Given the description of an element on the screen output the (x, y) to click on. 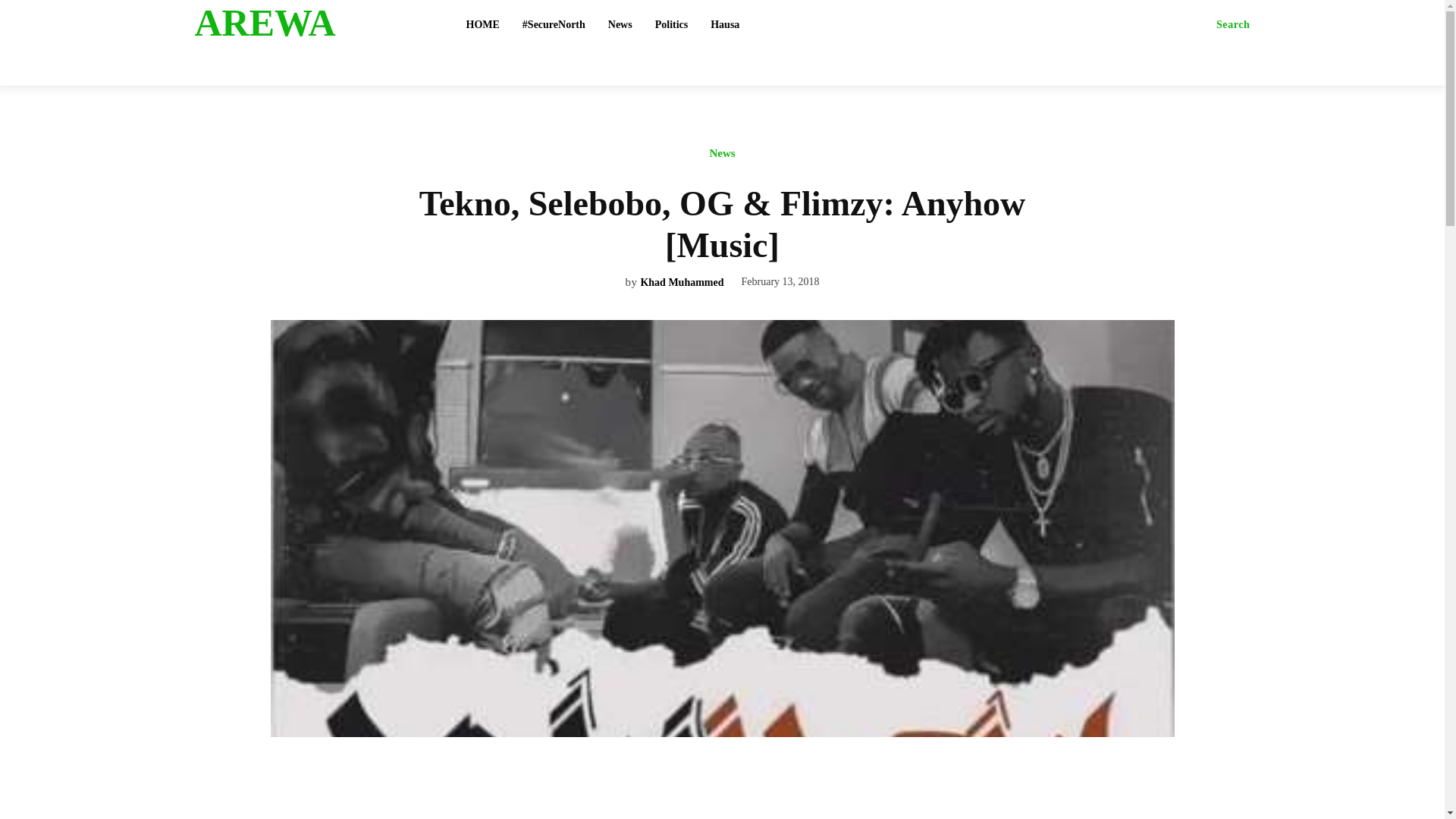
Search (1232, 24)
Hausa (724, 24)
Khad Muhammed (681, 282)
HOME (482, 24)
Politics (671, 24)
News (619, 24)
News (721, 156)
AREWA (311, 22)
